Given the description of an element on the screen output the (x, y) to click on. 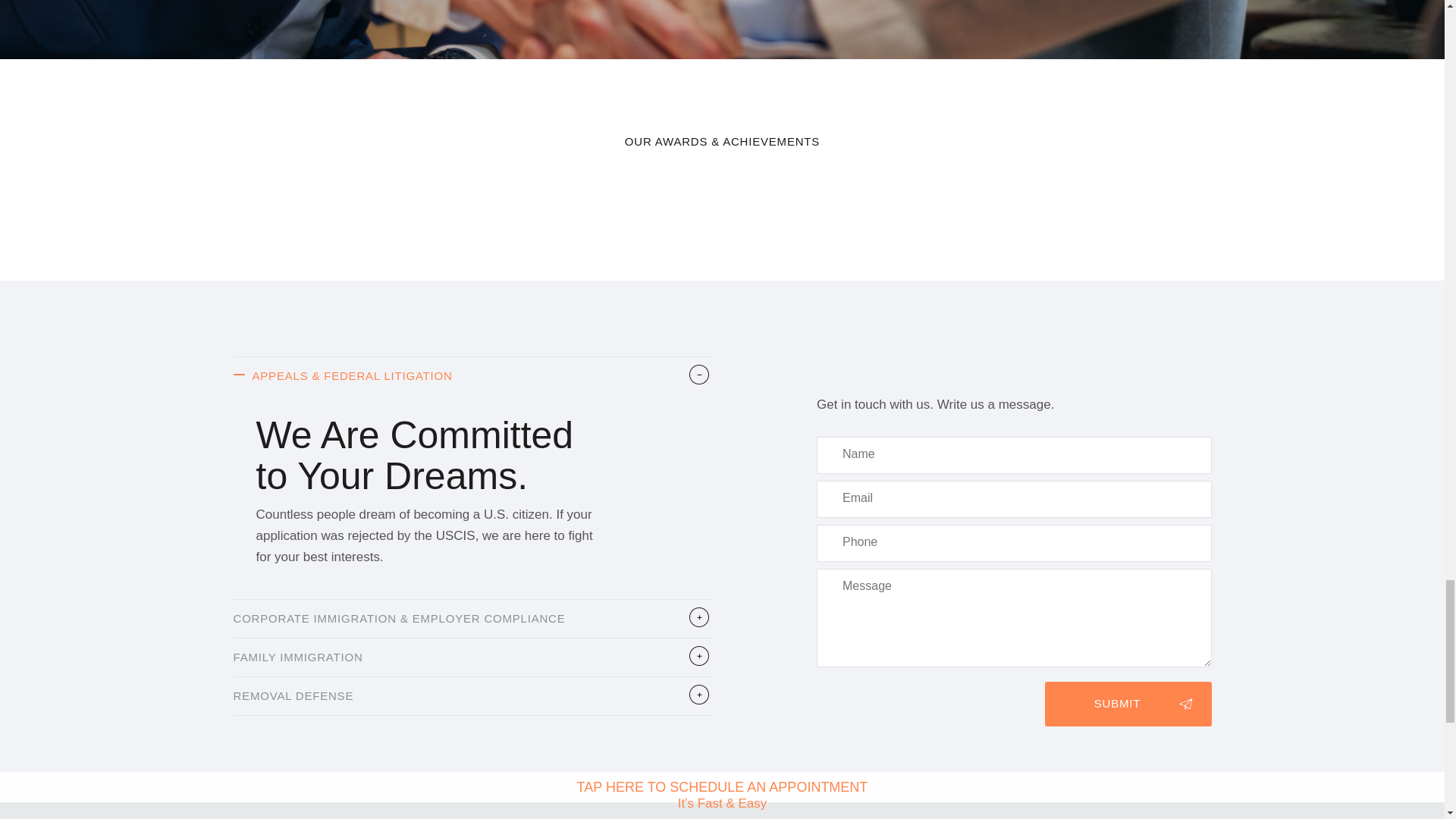
Submit (1128, 703)
